Given the description of an element on the screen output the (x, y) to click on. 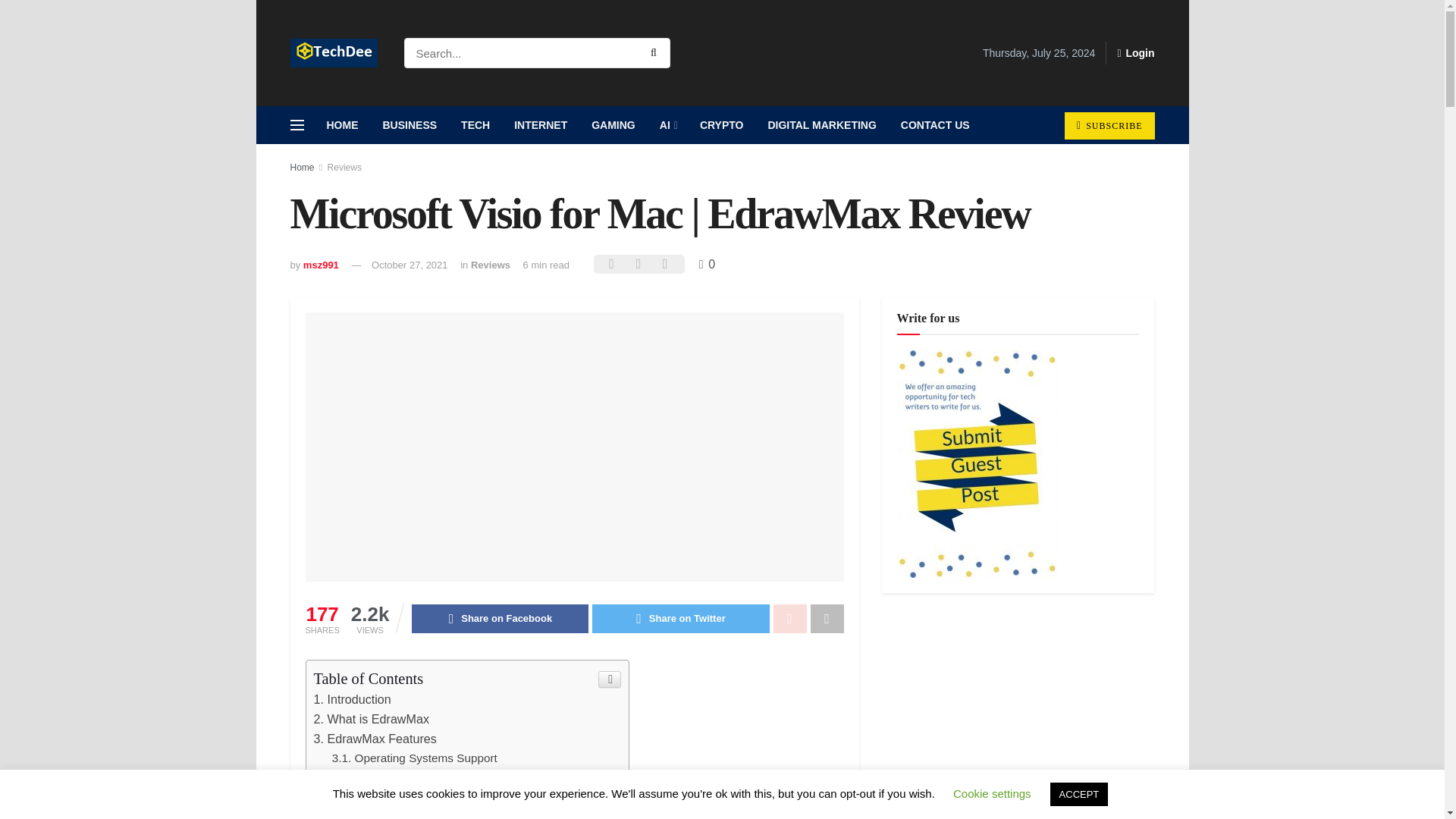
What is EdrawMax (371, 718)
GAMING (613, 125)
CONTACT US (934, 125)
TECH (475, 125)
HOME (341, 125)
Windows (366, 775)
Reviews (490, 265)
msz991 (320, 265)
Login (1135, 53)
AI (667, 125)
CRYPTO (721, 125)
Introduction (352, 698)
Home (301, 167)
DIGITAL MARKETING (821, 125)
EdrawMax Features (375, 738)
